Given the description of an element on the screen output the (x, y) to click on. 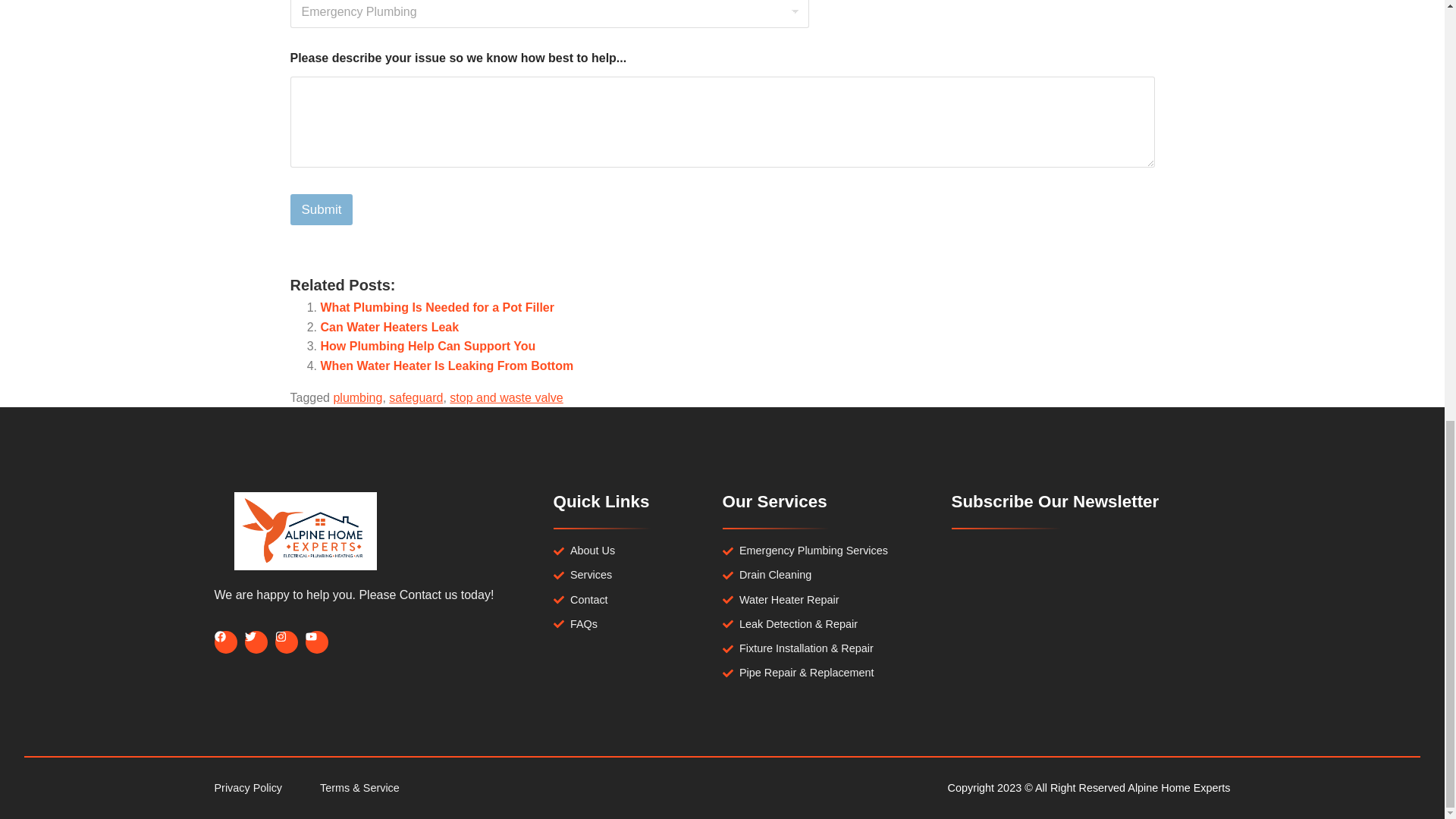
About Us (637, 550)
When Water Heater Is Leaking From Bottom (446, 365)
Submit (320, 209)
What Plumbing Is Needed for a Pot Filler (436, 307)
Can Water Heaters Leak (389, 327)
FAQs (637, 624)
Contact (637, 599)
How Plumbing Help Can Support You (427, 345)
How Plumbing Help Can Support You (427, 345)
safeguard (415, 397)
plumbing (357, 397)
Water Heater Repair (823, 599)
Can Water Heaters Leak (389, 327)
When Water Heater Is Leaking From Bottom (446, 365)
What Plumbing Is Needed for a Pot Filler (436, 307)
